Given the description of an element on the screen output the (x, y) to click on. 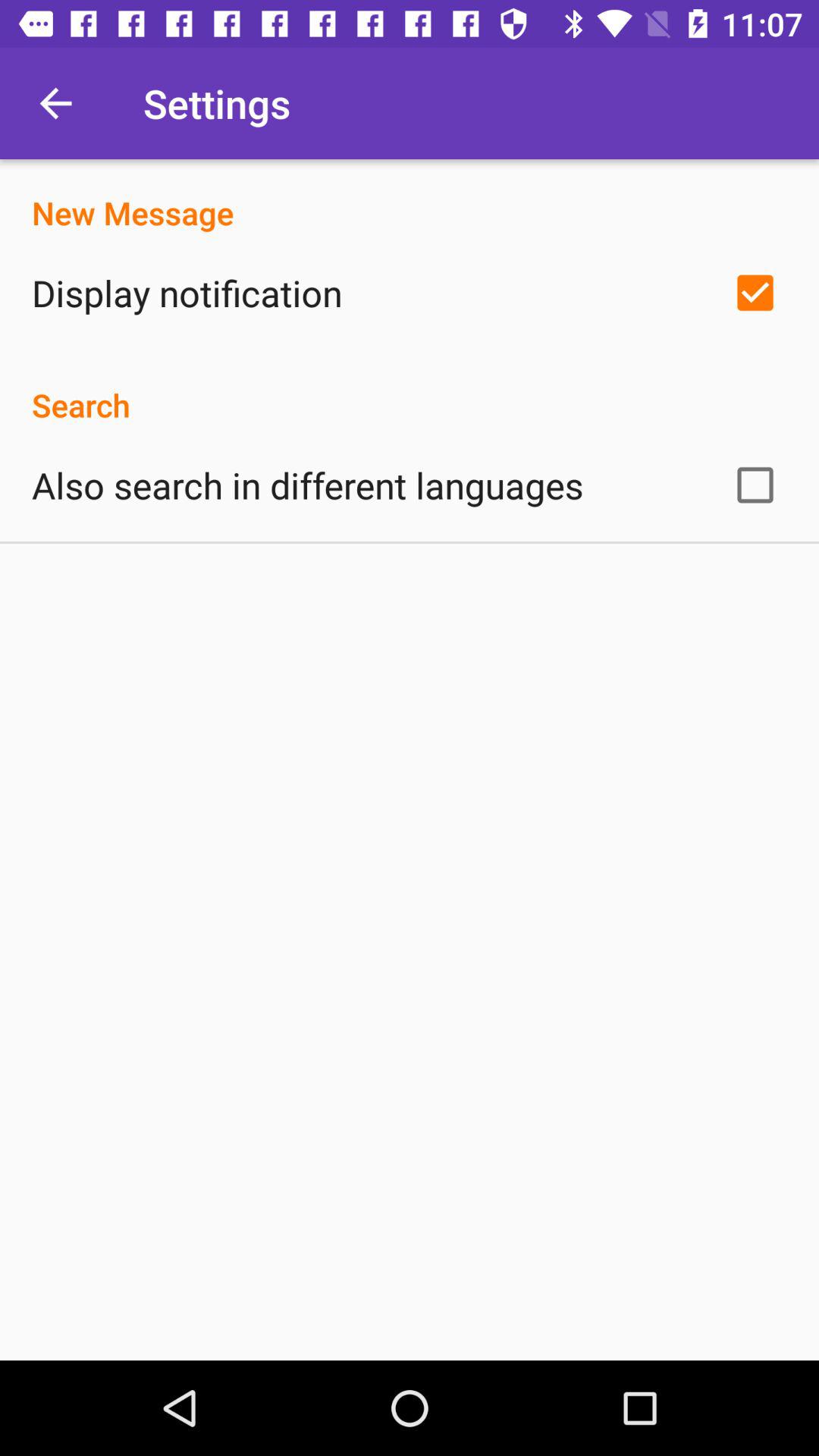
turn off the item next to settings item (55, 103)
